Given the description of an element on the screen output the (x, y) to click on. 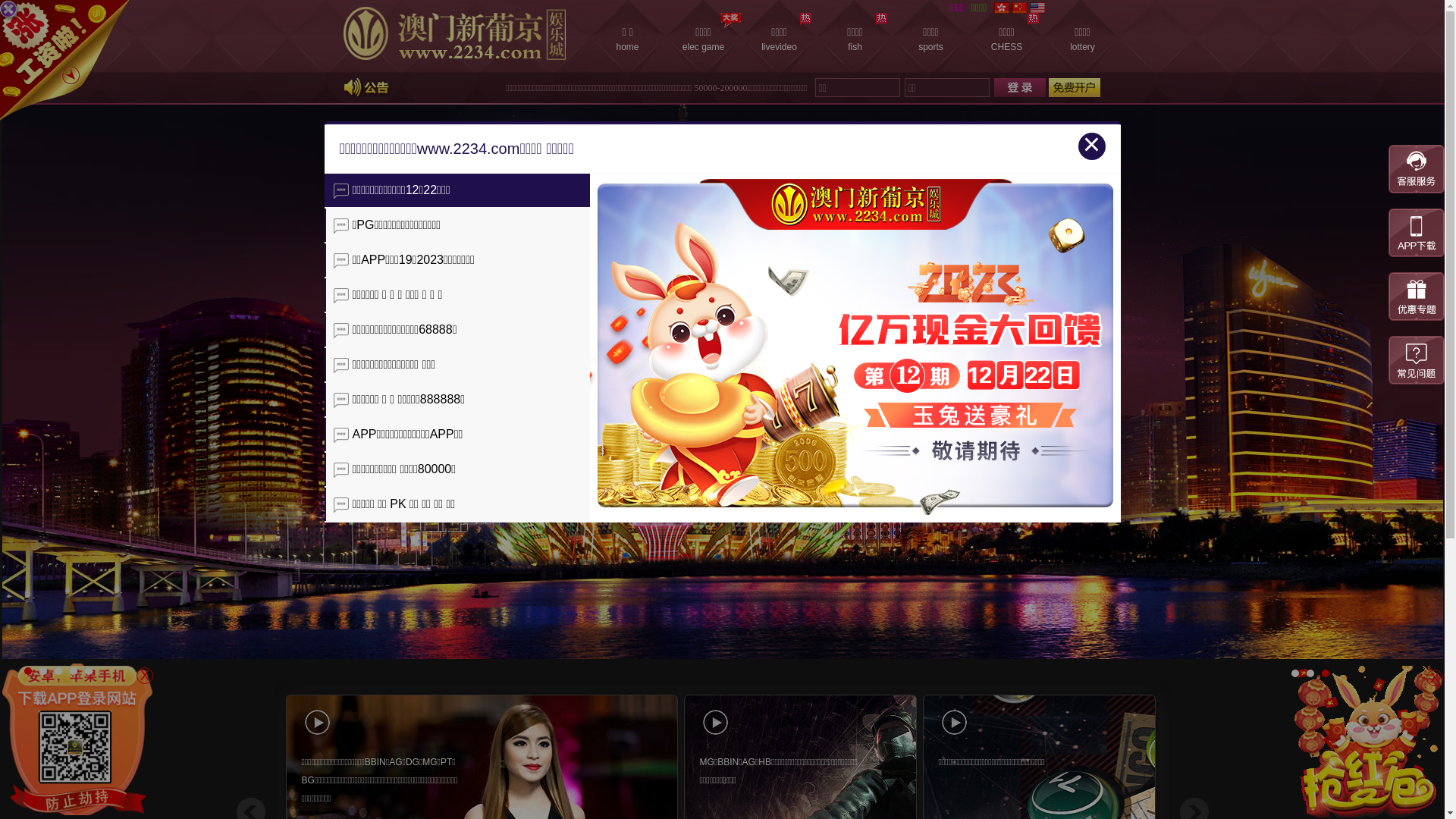
X Element type: text (1434, 677)
X Element type: text (144, 675)
